Given the description of an element on the screen output the (x, y) to click on. 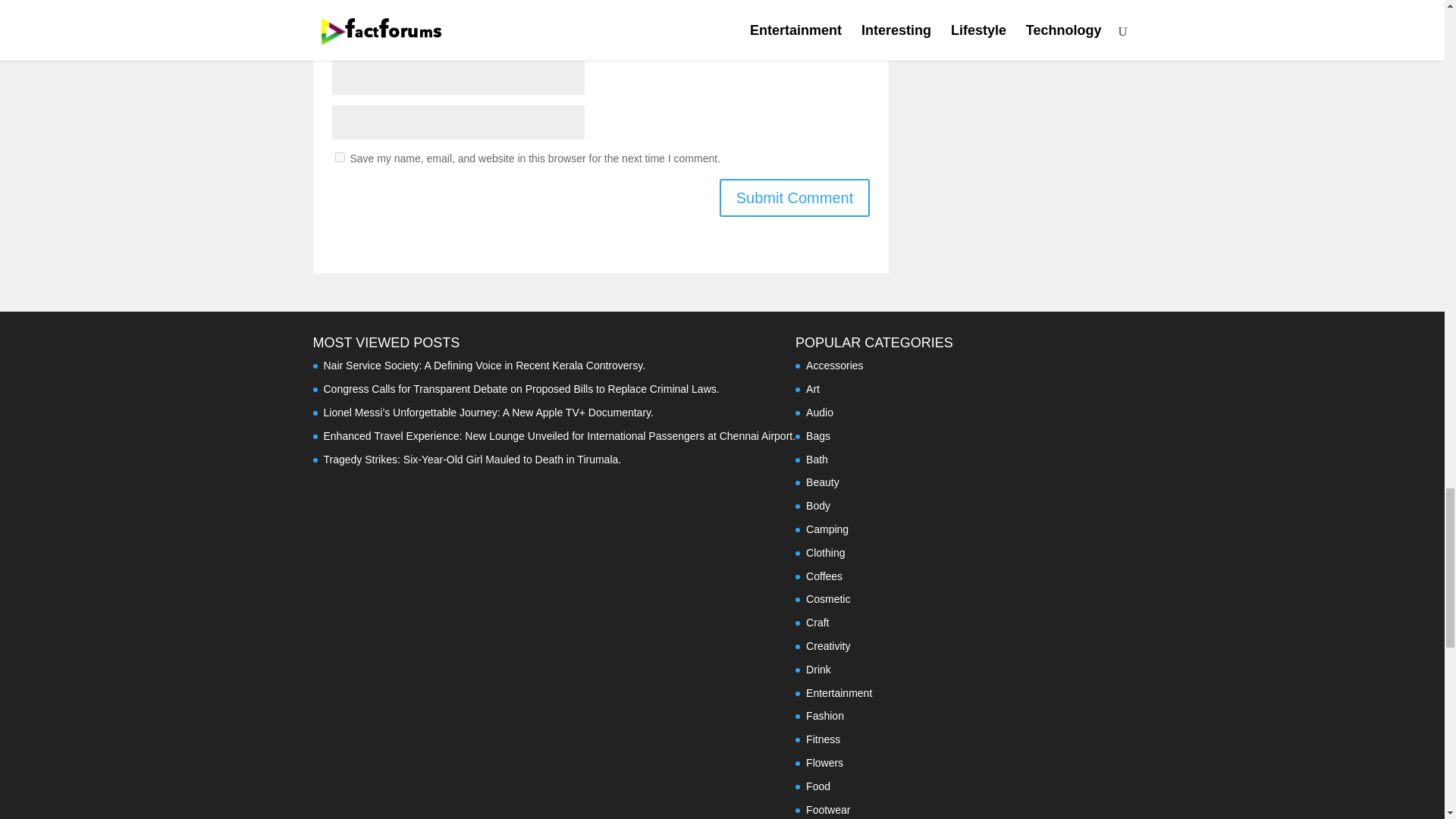
Cosmetic (828, 598)
Accessories (834, 365)
Art (812, 388)
Clothing (825, 552)
Camping (827, 529)
Submit Comment (794, 198)
yes (339, 157)
Body (817, 505)
Audio (819, 412)
Bags (817, 435)
Coffees (824, 576)
Beauty (823, 481)
